Given the description of an element on the screen output the (x, y) to click on. 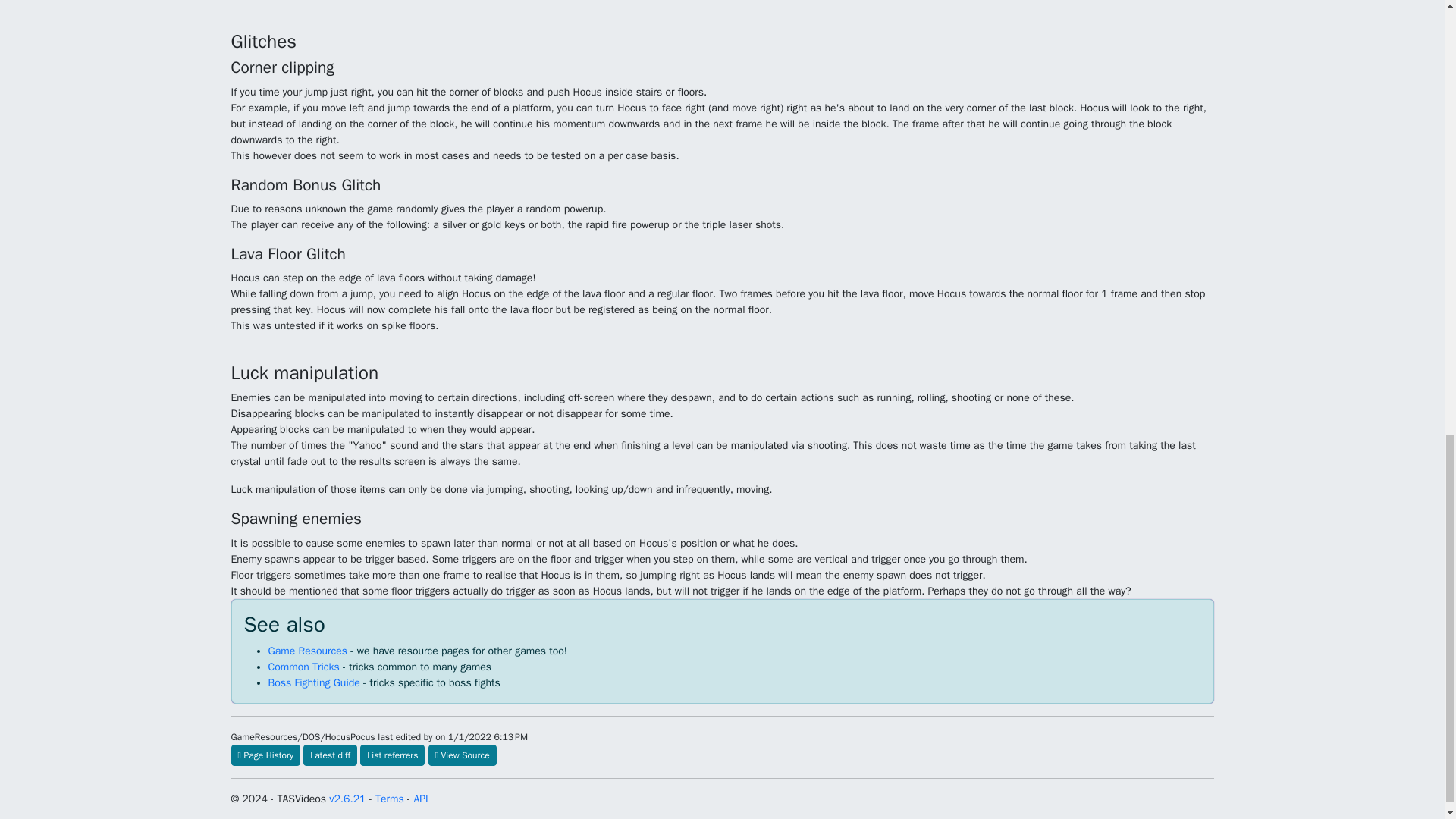
Terms (389, 798)
Boss Fighting Guide (313, 682)
Common Tricks (303, 666)
View Source (462, 754)
List referrers (392, 754)
Page History (264, 754)
v2.6.21 (347, 798)
Latest diff (329, 754)
Game Resources (307, 650)
API (420, 798)
